Given the description of an element on the screen output the (x, y) to click on. 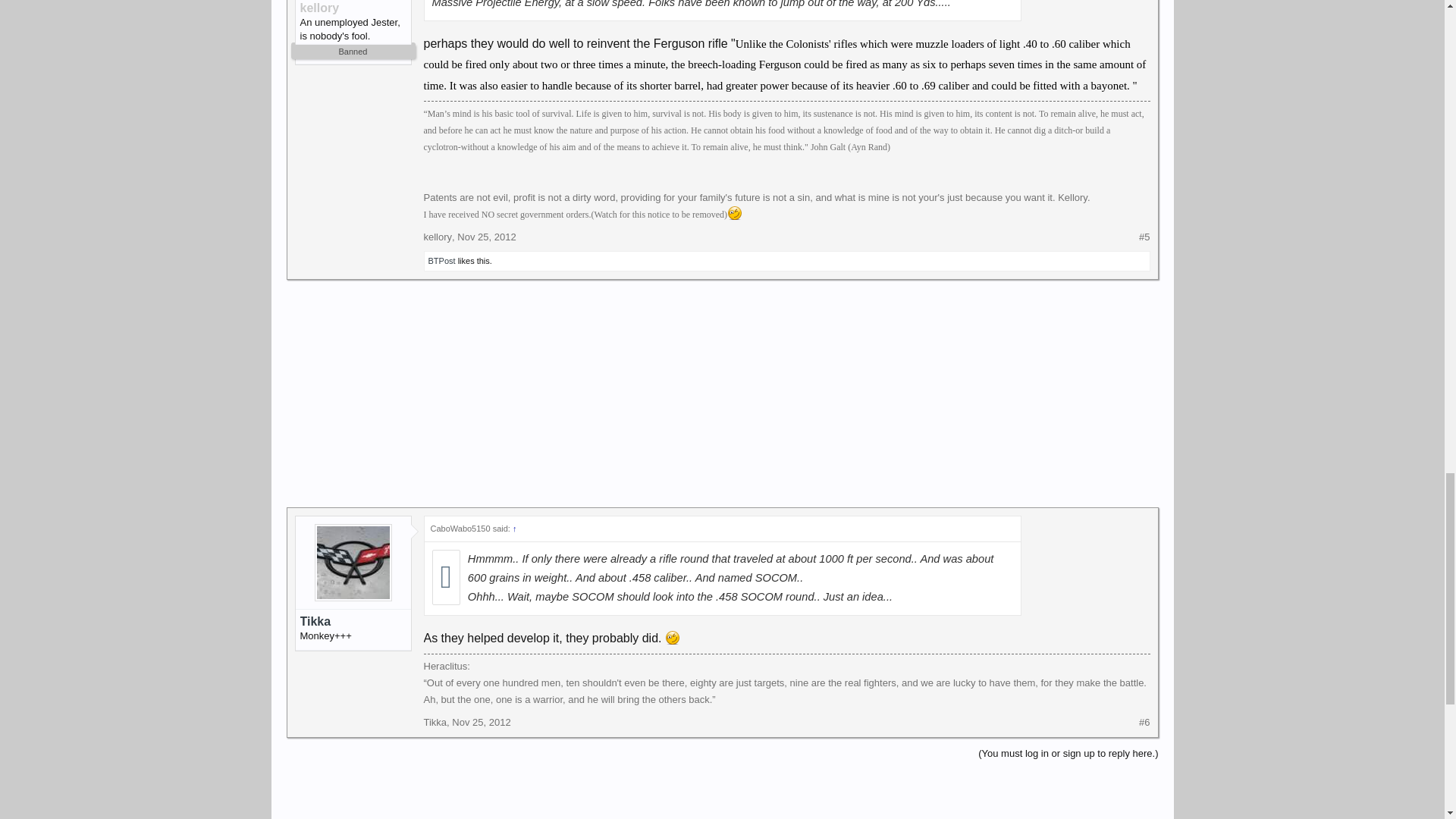
Nov 25, 2012 (486, 236)
kellory (437, 236)
BTPost (441, 260)
kellory (352, 7)
